Given the description of an element on the screen output the (x, y) to click on. 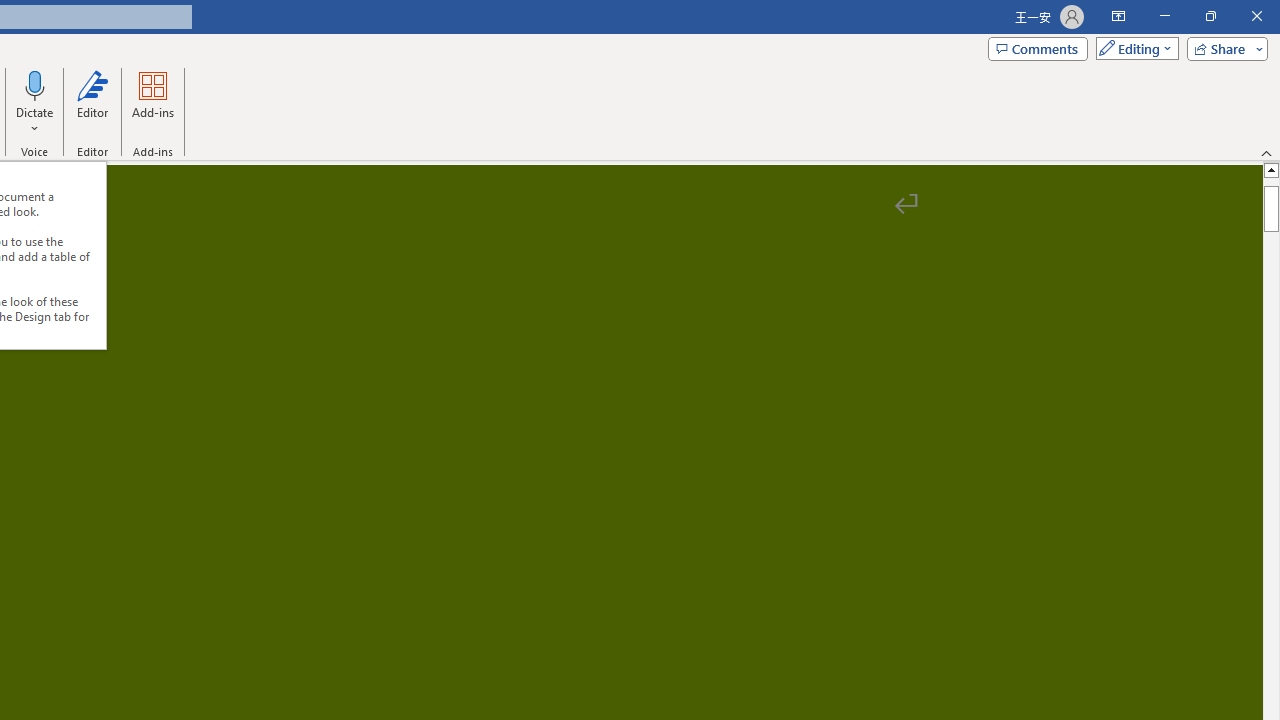
Minimize (1164, 16)
